Given the description of an element on the screen output the (x, y) to click on. 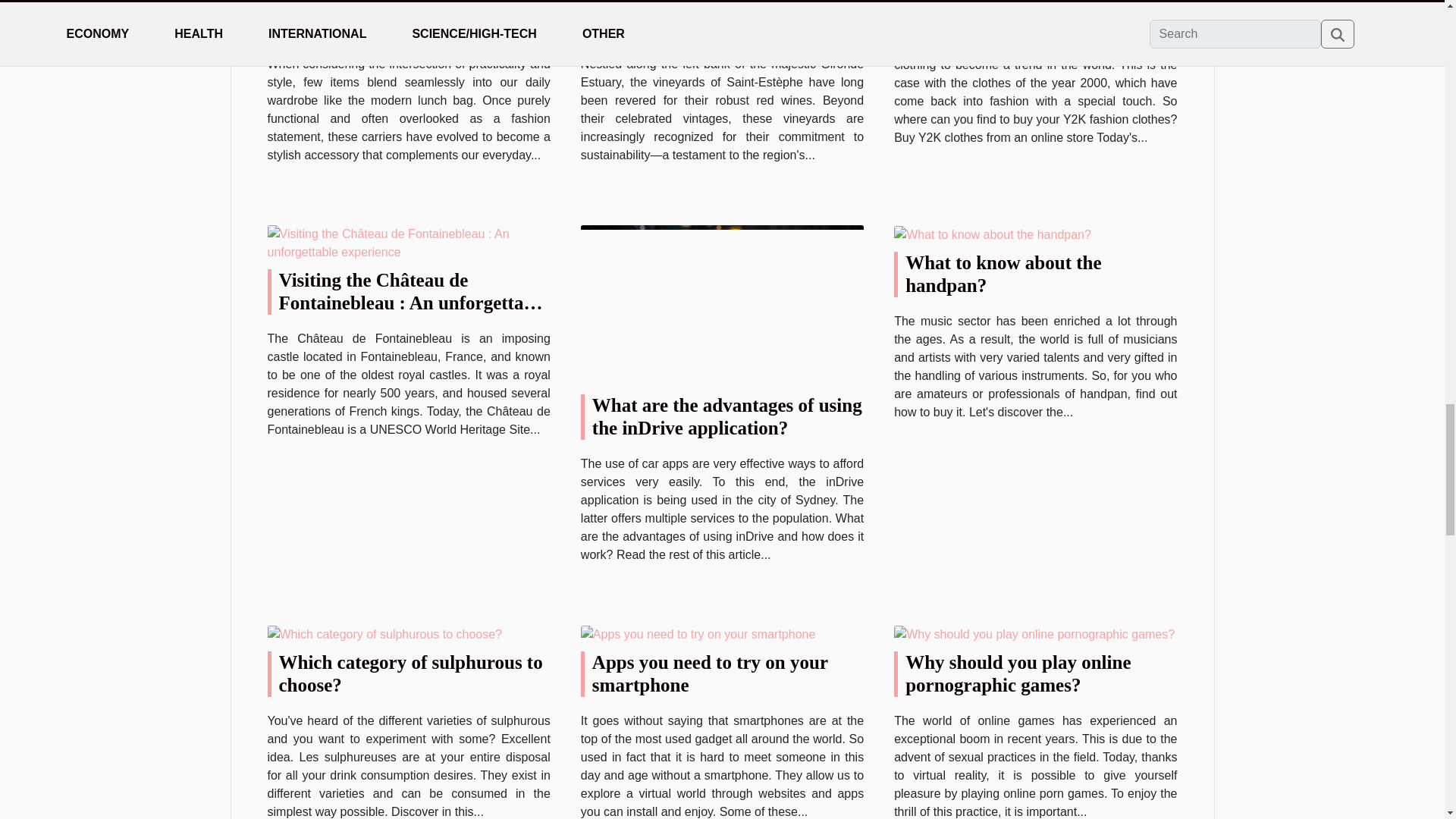
What are the advantages of using the inDrive application? (726, 416)
Where are the best places to buy y2k clothing? (1036, 10)
Where are the best places to buy y2k clothing? (1036, 10)
